Given the description of an element on the screen output the (x, y) to click on. 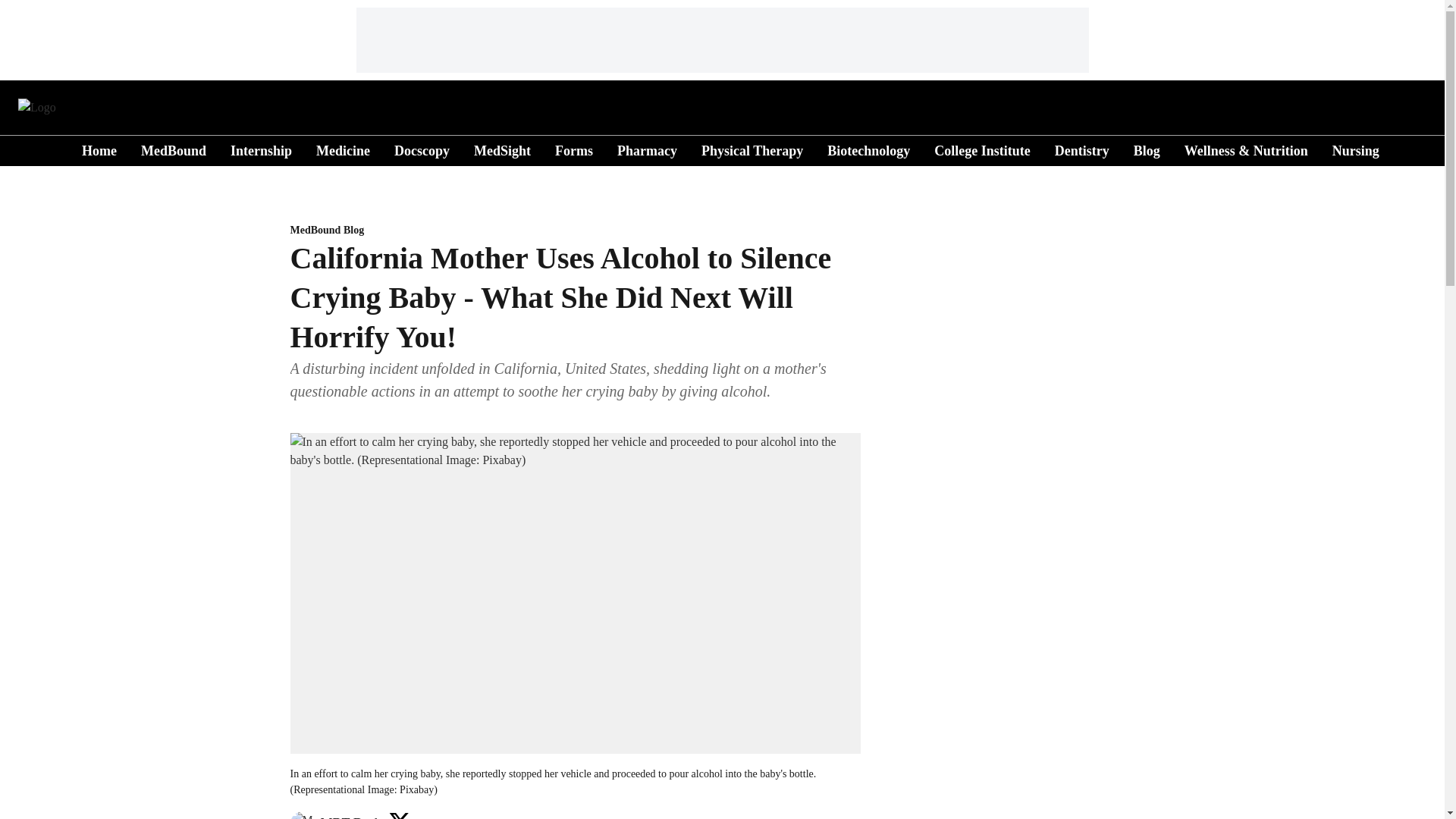
Nursing (1355, 150)
Pharmacy (647, 150)
Docscopy (421, 150)
Internship (261, 150)
Forms (573, 150)
Medicine (342, 150)
Blog (1147, 150)
Home (98, 150)
MedBound Blog (574, 230)
College Institute (981, 150)
